Given the description of an element on the screen output the (x, y) to click on. 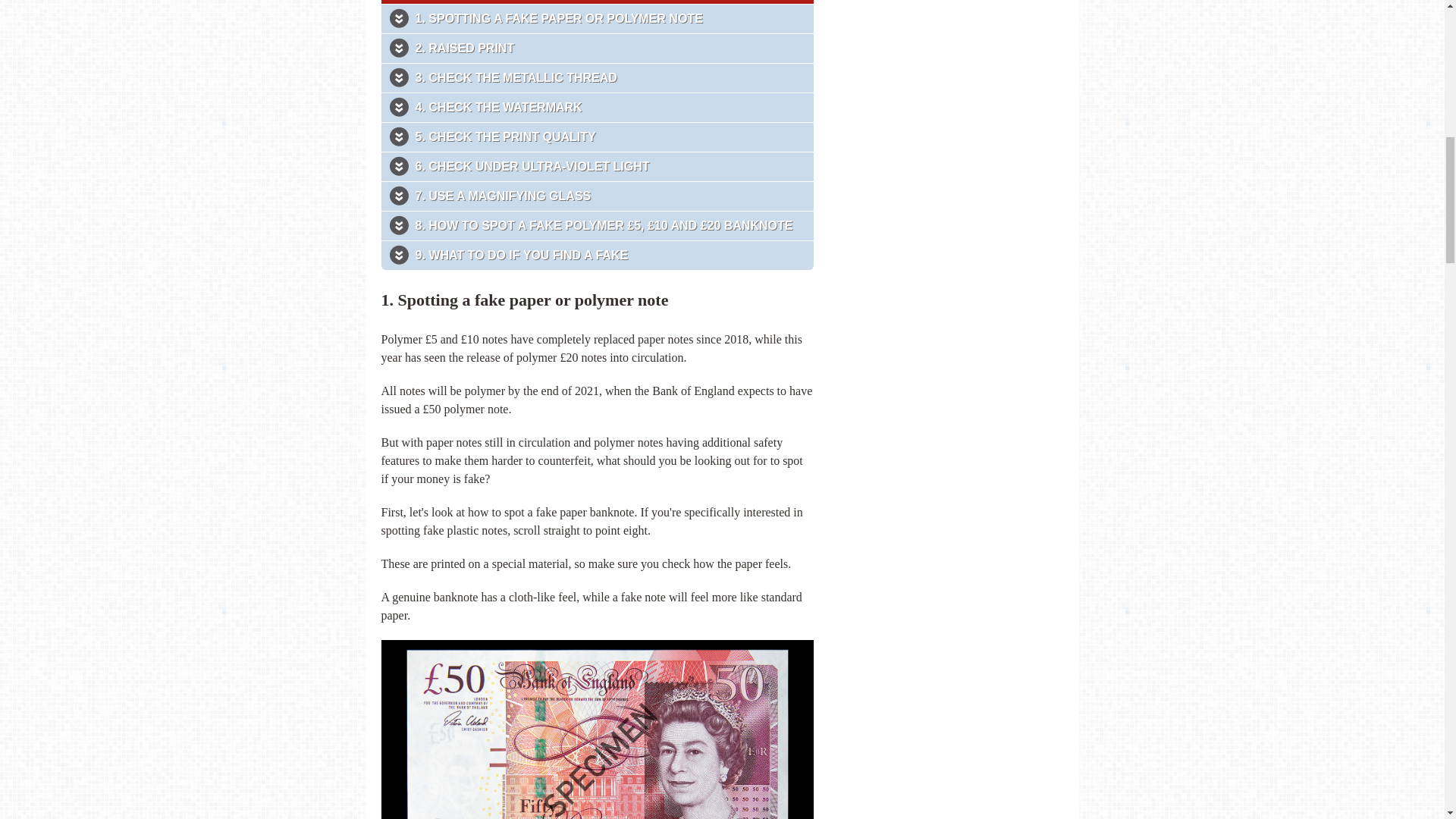
3. CHECK THE METALLIC THREAD (608, 78)
1. SPOTTING A FAKE PAPER OR POLYMER NOTE (608, 18)
2. RAISED PRINT (608, 48)
